Given the description of an element on the screen output the (x, y) to click on. 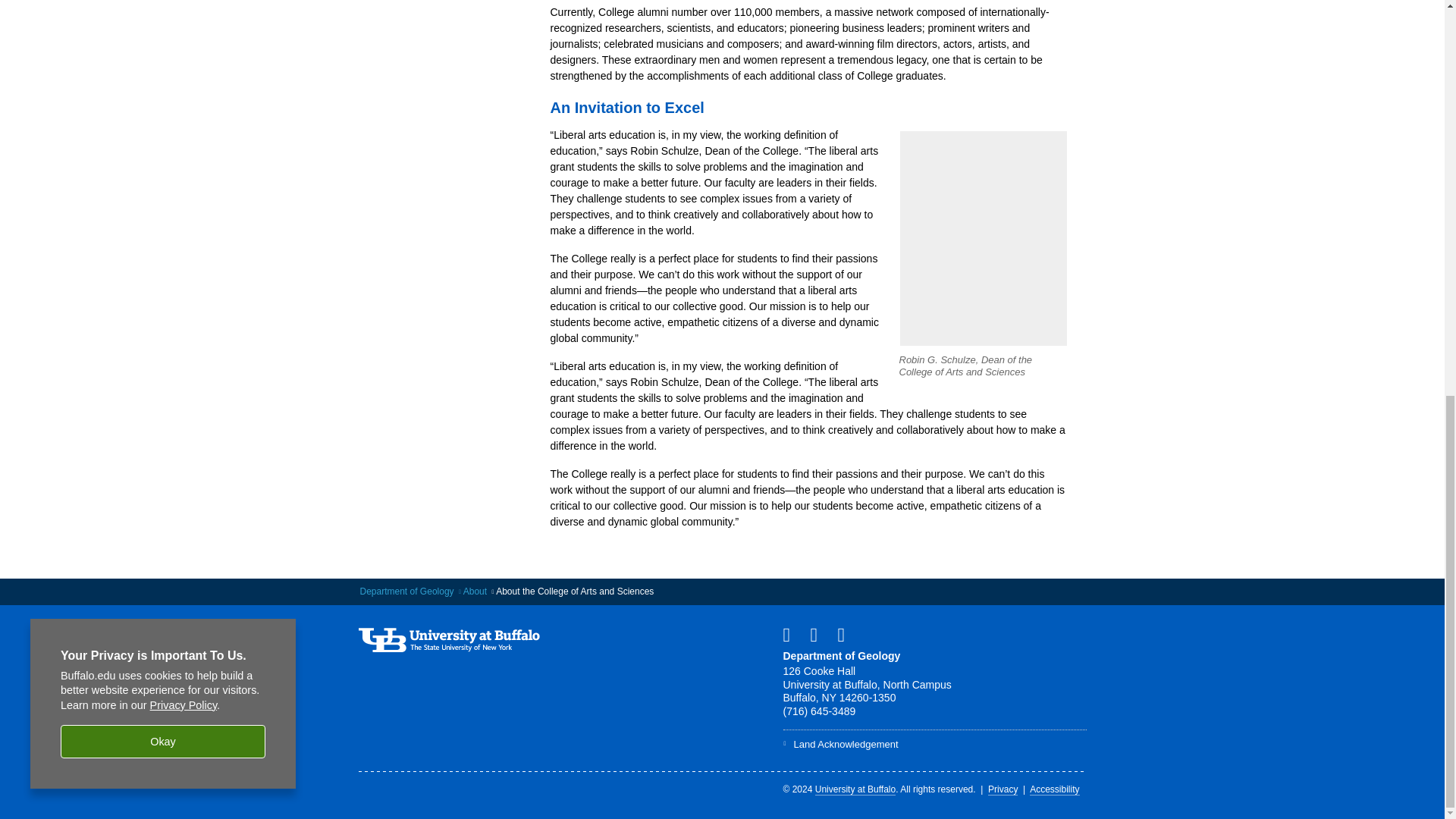
LinkedIn (847, 634)
X (819, 634)
Facebook (792, 634)
